Given the description of an element on the screen output the (x, y) to click on. 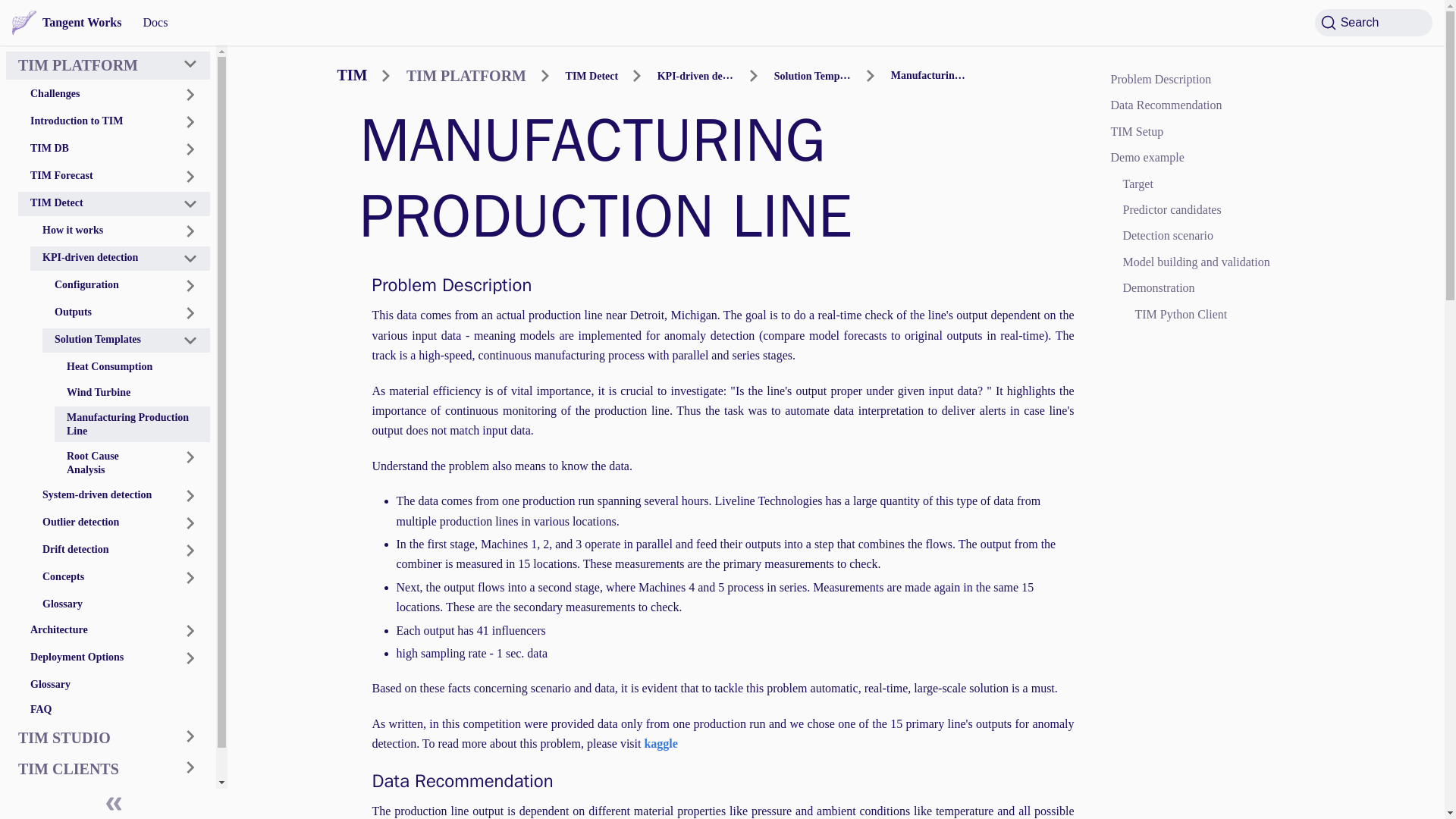
How it works (99, 231)
Manufacturing Production Line (132, 424)
Outputs (105, 313)
Heat Consumption (132, 366)
Wind Turbine (132, 391)
Challenges (92, 94)
Introduction to TIM (113, 121)
Glossary (119, 603)
Drift detection (99, 550)
KPI-driven detection (100, 258)
Solution Templates (106, 340)
Collapse sidebar (113, 803)
TIM Forecast (92, 176)
Docs (154, 22)
Root Cause Analysis (111, 462)
